Given the description of an element on the screen output the (x, y) to click on. 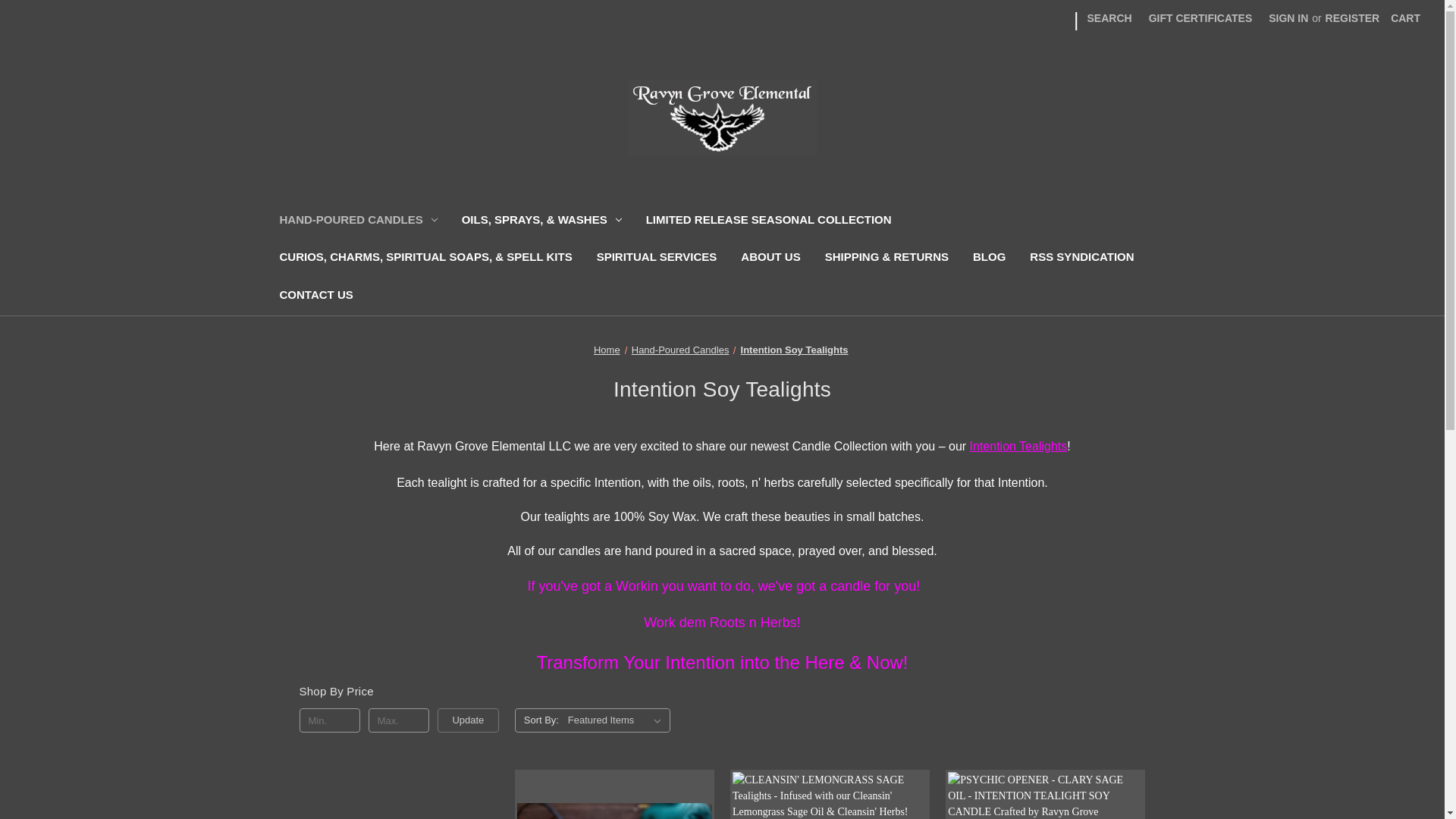
SEARCH (1109, 18)
RSS SYNDICATION (1081, 258)
Home (607, 349)
Intention Soy Tealights (794, 349)
GIFT CERTIFICATES (1200, 18)
CONTACT US (315, 296)
BLOG (988, 258)
REGISTER (1353, 18)
Ravyn Grove Elemental (721, 117)
ABOUT US (770, 258)
